Given the description of an element on the screen output the (x, y) to click on. 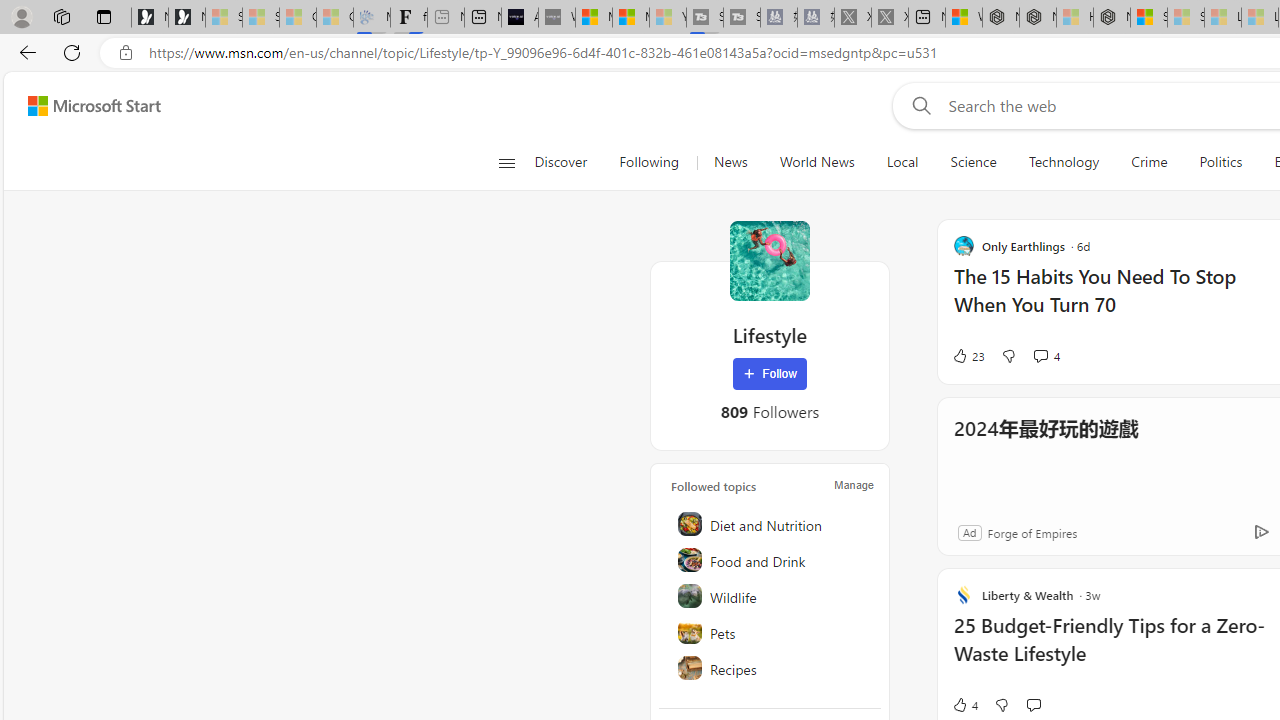
Start the conversation (1033, 704)
New tab - Sleeping (445, 17)
Technology (1064, 162)
What's the best AI voice generator? - voice.ai - Sleeping (556, 17)
Web search (917, 105)
Discover (568, 162)
Science (973, 162)
News (730, 162)
Following (649, 162)
